Given the description of an element on the screen output the (x, y) to click on. 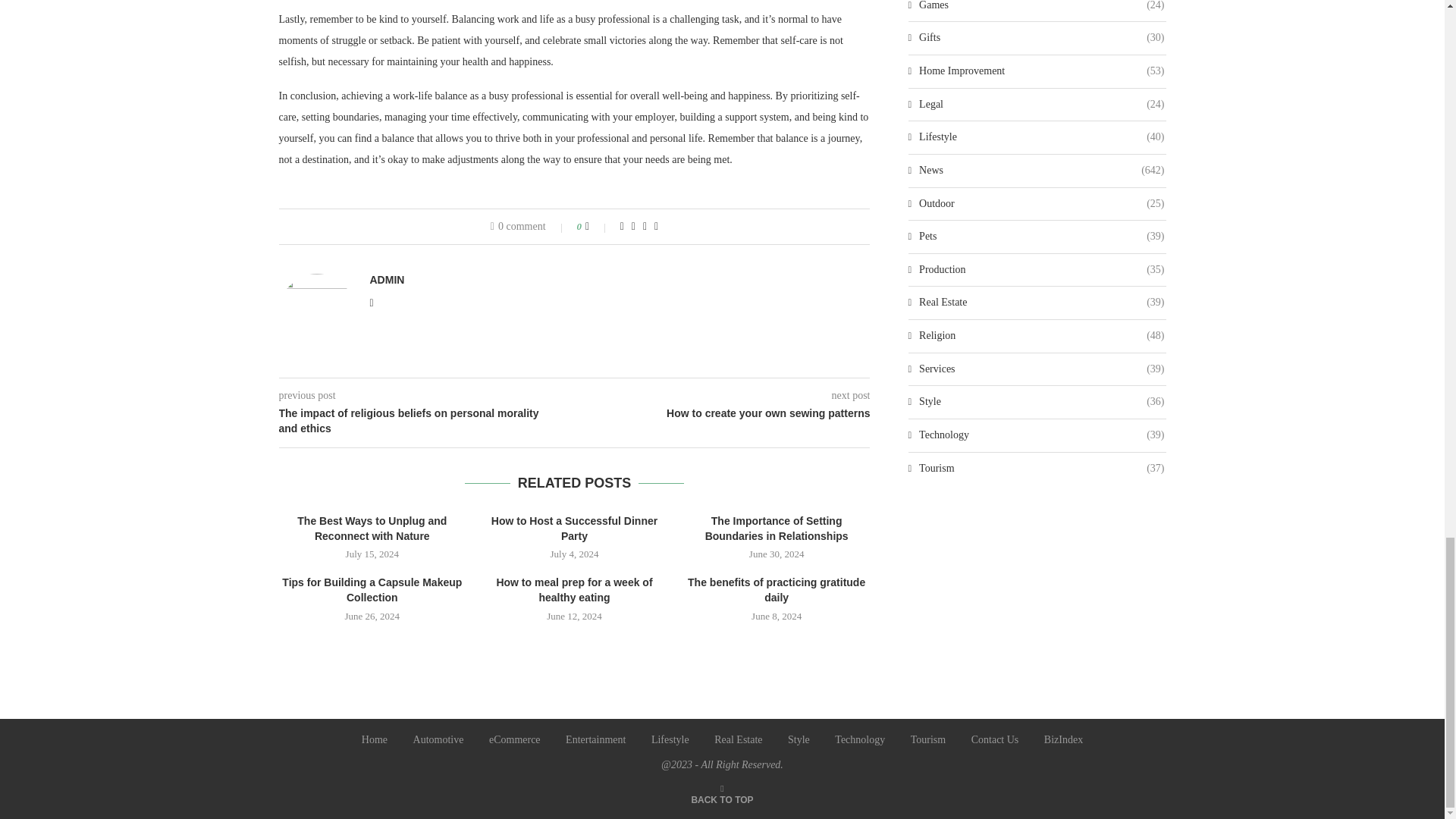
Like (597, 226)
Author admin (386, 279)
